Given the description of an element on the screen output the (x, y) to click on. 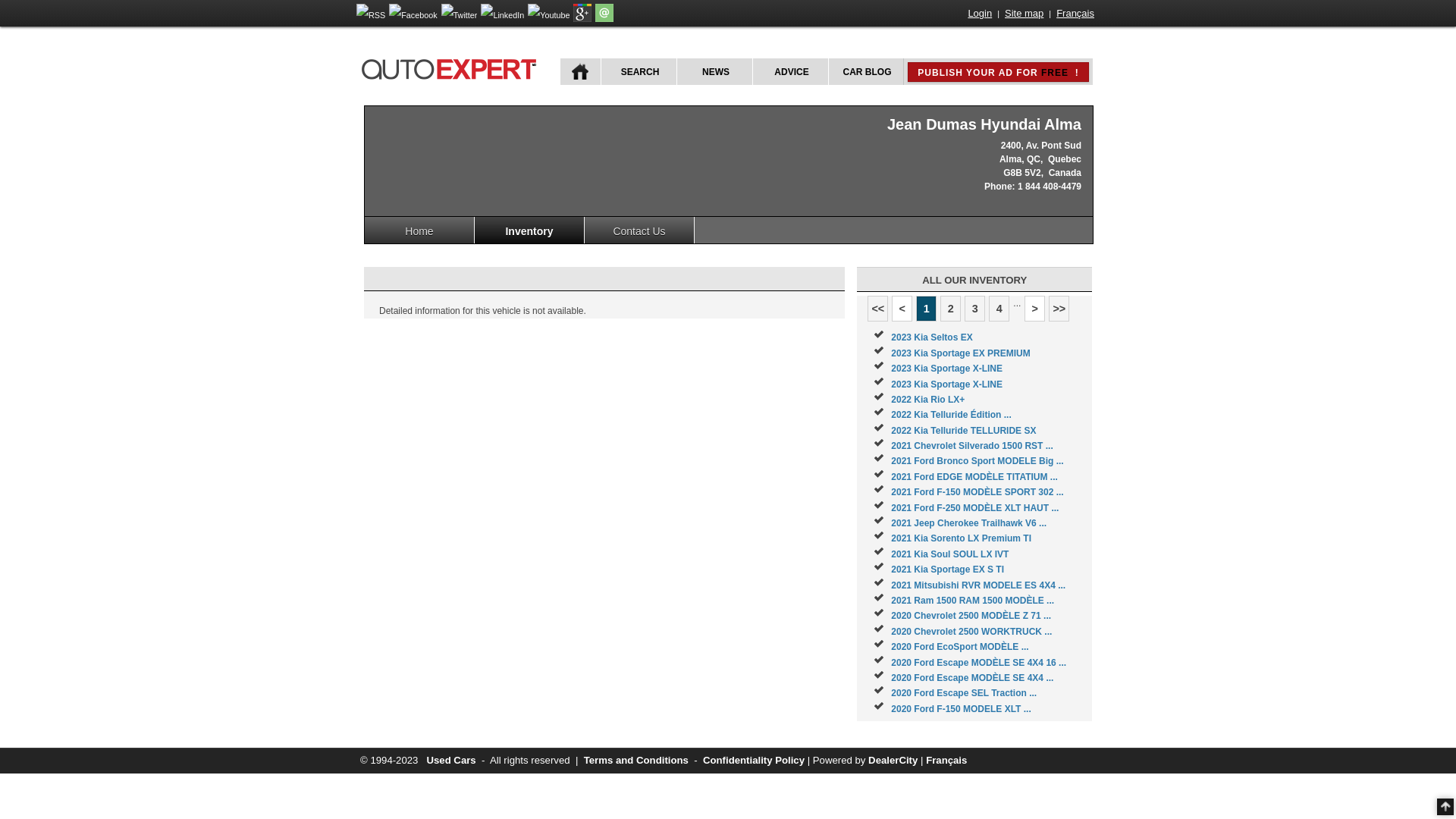
2021 Kia Sportage EX S TI Element type: text (947, 569)
Site map Element type: text (1023, 13)
4 Element type: text (998, 308)
>> Element type: text (1058, 308)
ADVICE Element type: text (790, 71)
Used Cars Element type: text (450, 759)
autoExpert.ca Element type: text (451, 66)
2021 Jeep Cherokee Trailhawk V6 ... Element type: text (968, 522)
NEWS Element type: text (714, 71)
Follow autoExpert.ca on Twitter Element type: hover (459, 14)
2022 Kia Rio LX+ Element type: text (927, 399)
< Element type: text (901, 308)
2021 Kia Soul SOUL LX IVT Element type: text (949, 554)
2021 Mitsubishi RVR MODELE ES 4X4 ... Element type: text (978, 585)
Terms and Conditions Element type: text (635, 759)
<< Element type: text (877, 308)
2 Element type: text (950, 308)
3 Element type: text (974, 308)
2021 Chevrolet Silverado 1500 RST ... Element type: text (971, 445)
Login Element type: text (979, 13)
2023 Kia Sportage X-LINE Element type: text (946, 368)
2020 Ford Escape SEL Traction ... Element type: text (963, 692)
Home Element type: text (419, 229)
SEARCH Element type: text (638, 71)
1 Element type: text (926, 308)
CAR BLOG Element type: text (865, 71)
Follow Publications Le Guide Inc. on LinkedIn Element type: hover (502, 14)
2023 Kia Seltos EX Element type: text (931, 337)
Follow autoExpert.ca on Google Plus Element type: hover (582, 18)
2022 Kia Telluride TELLURIDE SX Element type: text (963, 430)
> Element type: text (1034, 308)
2020 Chevrolet 2500 WORKTRUCK ... Element type: text (971, 631)
2021 Kia Sorento LX Premium TI Element type: text (961, 538)
Contact autoExpert.ca Element type: hover (604, 18)
Inventory Element type: text (529, 229)
2023 Kia Sportage EX PREMIUM Element type: text (960, 353)
2023 Kia Sportage X-LINE Element type: text (946, 384)
Confidentiality Policy Element type: text (753, 759)
DealerCity Element type: text (892, 759)
Follow car news on autoExpert.ca Element type: hover (370, 14)
HOME Element type: text (580, 71)
Follow autoExpert.ca on Youtube Element type: hover (548, 14)
2020 Ford F-150 MODELE XLT ... Element type: text (960, 708)
PUBLISH YOUR AD FOR FREE  ! Element type: text (997, 71)
Follow autoExpert.ca on Facebook Element type: hover (412, 14)
Contact Us Element type: text (639, 229)
2021 Ford Bronco Sport MODELE Big ... Element type: text (977, 460)
